Given the description of an element on the screen output the (x, y) to click on. 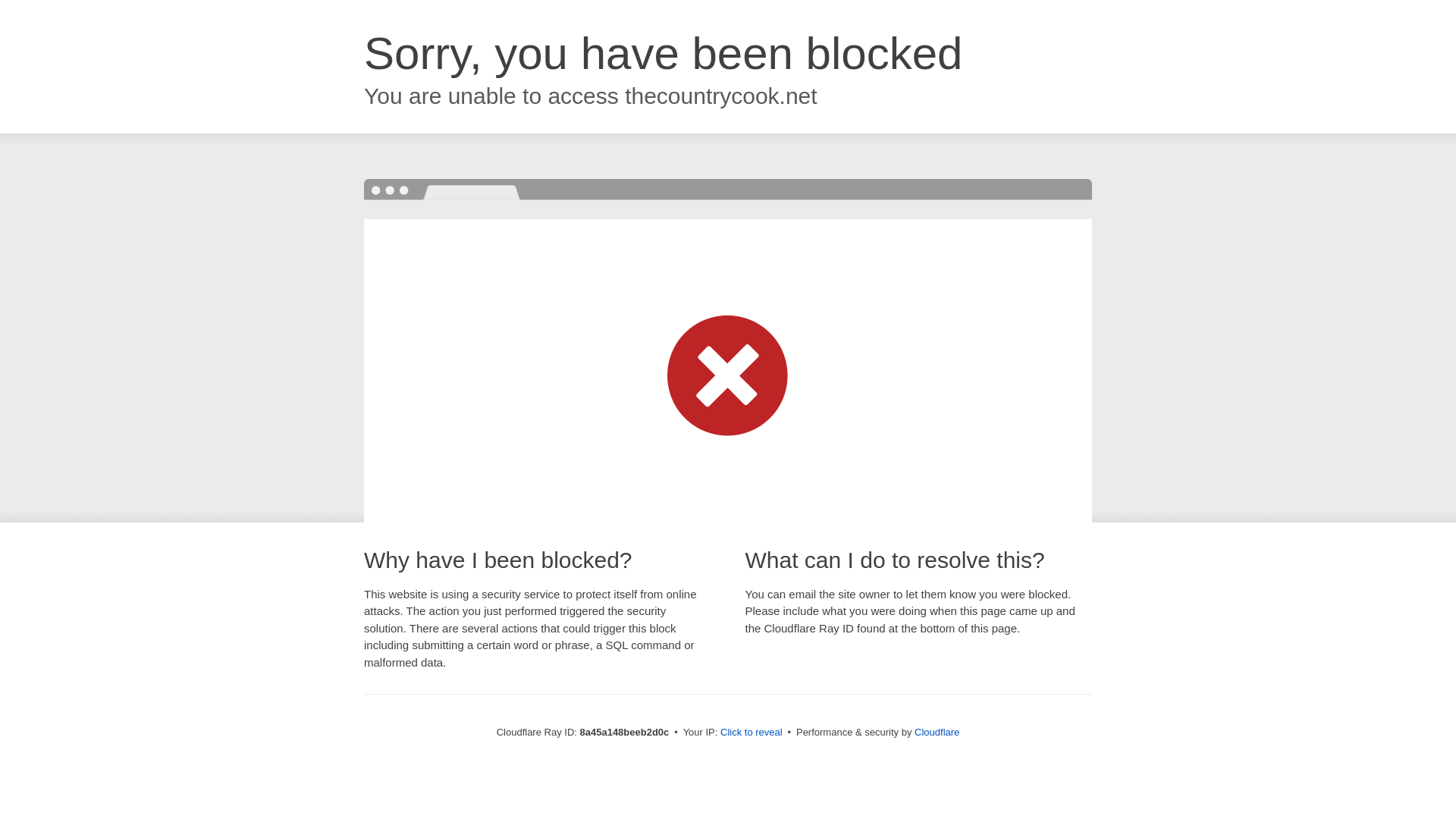
Cloudflare (936, 731)
Click to reveal (751, 732)
